Given the description of an element on the screen output the (x, y) to click on. 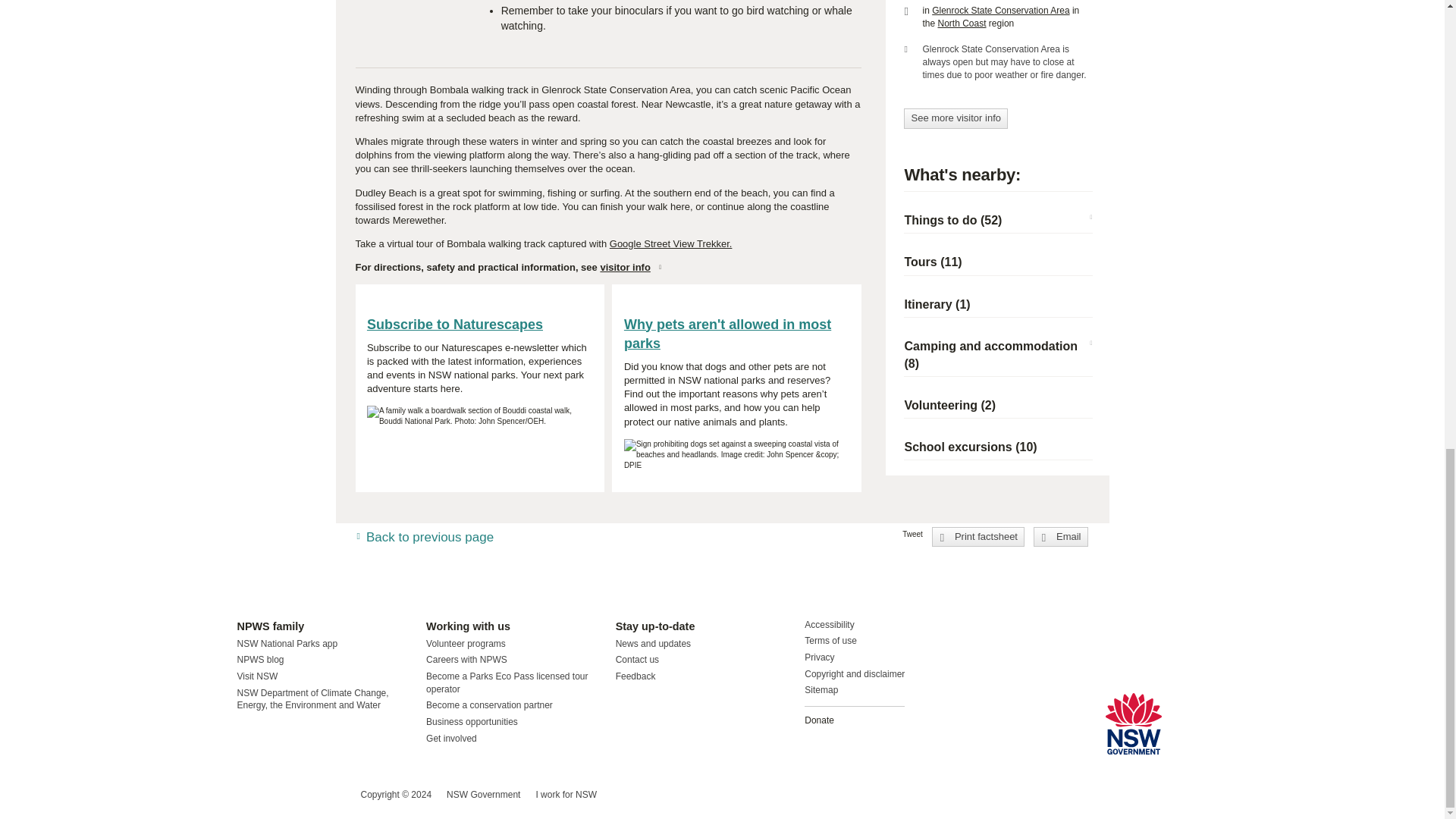
See more things to do nearby (952, 219)
